Given the description of an element on the screen output the (x, y) to click on. 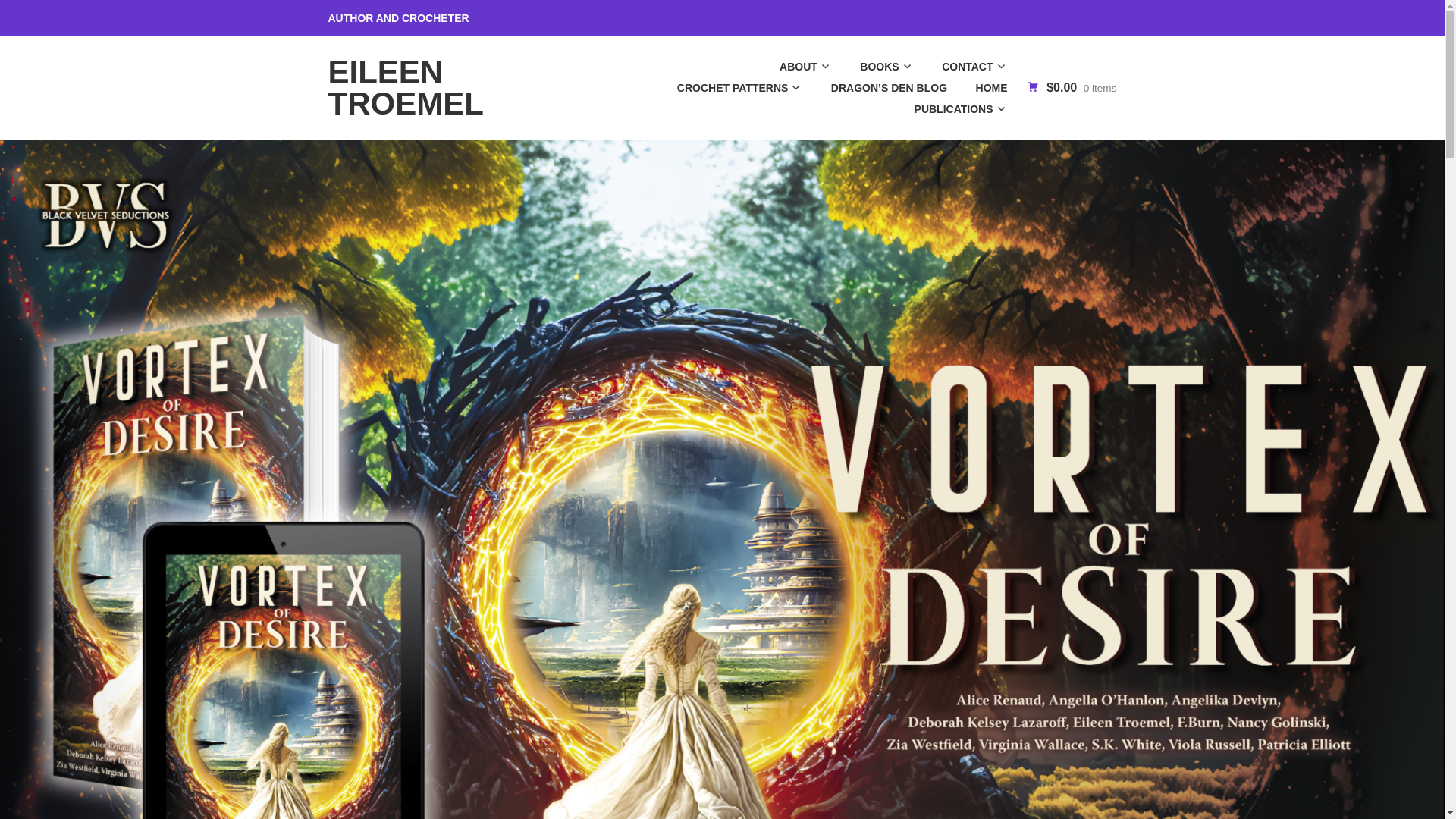
ABOUT (792, 66)
View your shopping cart (1071, 87)
BOOKS (874, 66)
HOME (978, 87)
CONTACT (962, 66)
EILEEN TROEMEL (405, 87)
PUBLICATIONS (947, 108)
CROCHET PATTERNS (726, 87)
